Given the description of an element on the screen output the (x, y) to click on. 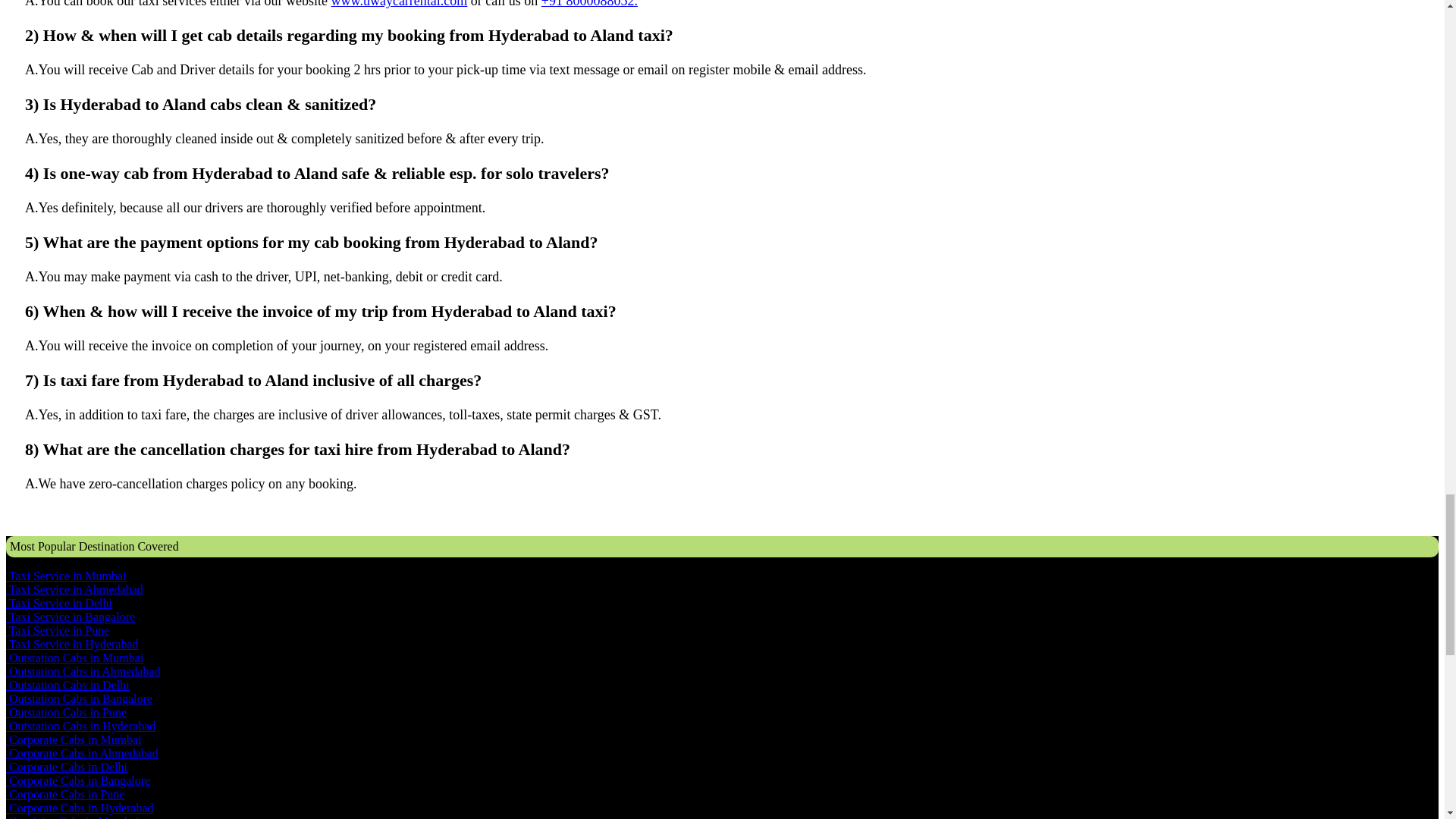
Taxi Service in Hyderabad (71, 644)
Taxi Service in Pune (57, 630)
One-Way Cabs in Mumbai (73, 816)
Outstation Cabs in Pune (65, 712)
Corporate Cabs in Delhi (66, 766)
Corporate Cabs in Bangalore (77, 780)
Taxi Service in Mumbai (65, 575)
Corporate Cabs in Ahmedabad (81, 753)
Outstation Cabs in Ahmedabad (82, 671)
Outstation Cabs in Mumbai (73, 657)
Corporate Cabs in Mumbai (73, 739)
Outstation Cabs in Hyderabad (80, 725)
Corporate Cabs in Pune (64, 793)
Outstation Cabs in Bangalore (78, 698)
Taxi Service in Ahmedabad (73, 589)
